Given the description of an element on the screen output the (x, y) to click on. 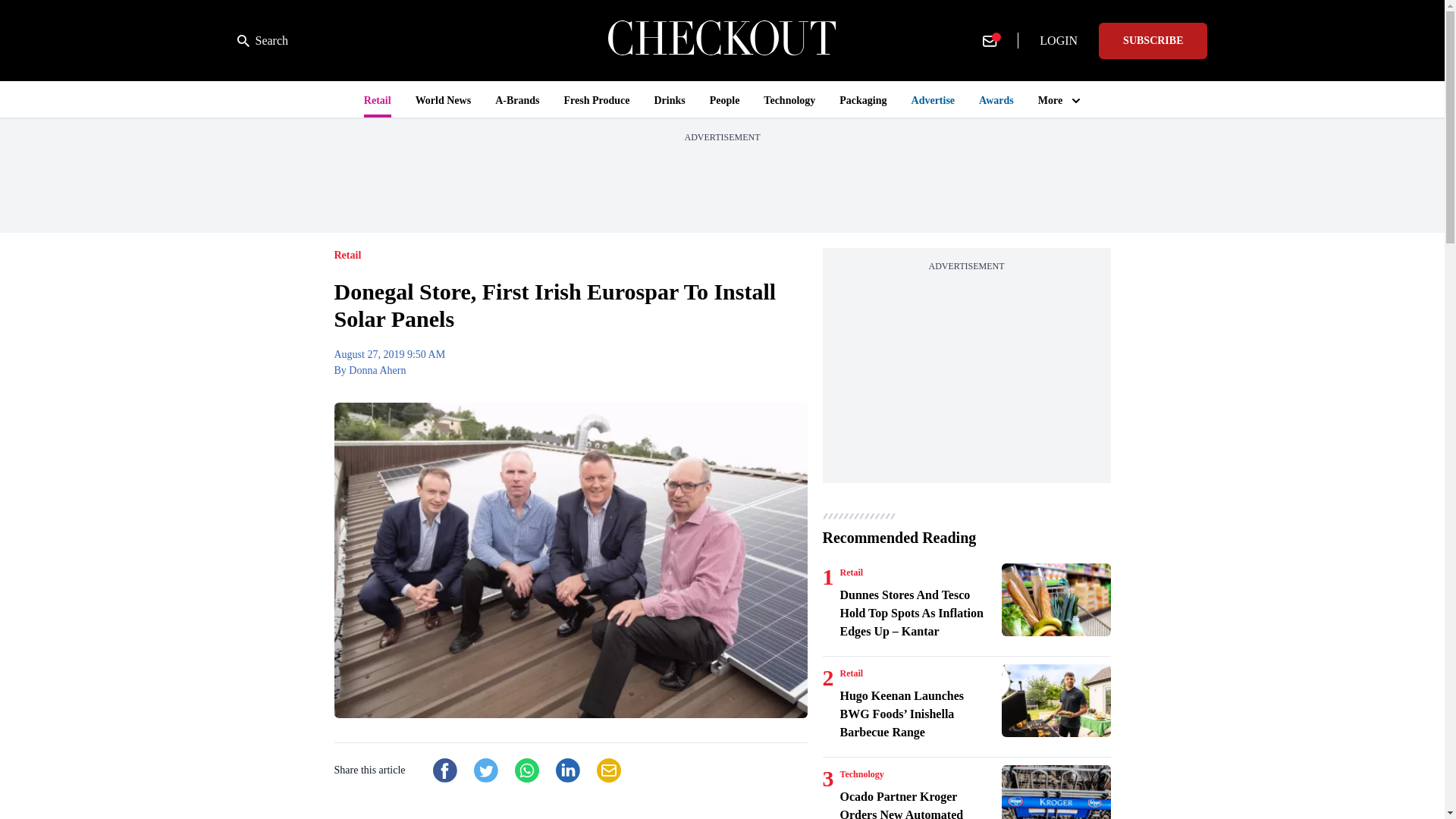
LOGIN (1058, 40)
Checkout (721, 40)
Search (261, 40)
Retail (851, 572)
Retail (851, 673)
